Given the description of an element on the screen output the (x, y) to click on. 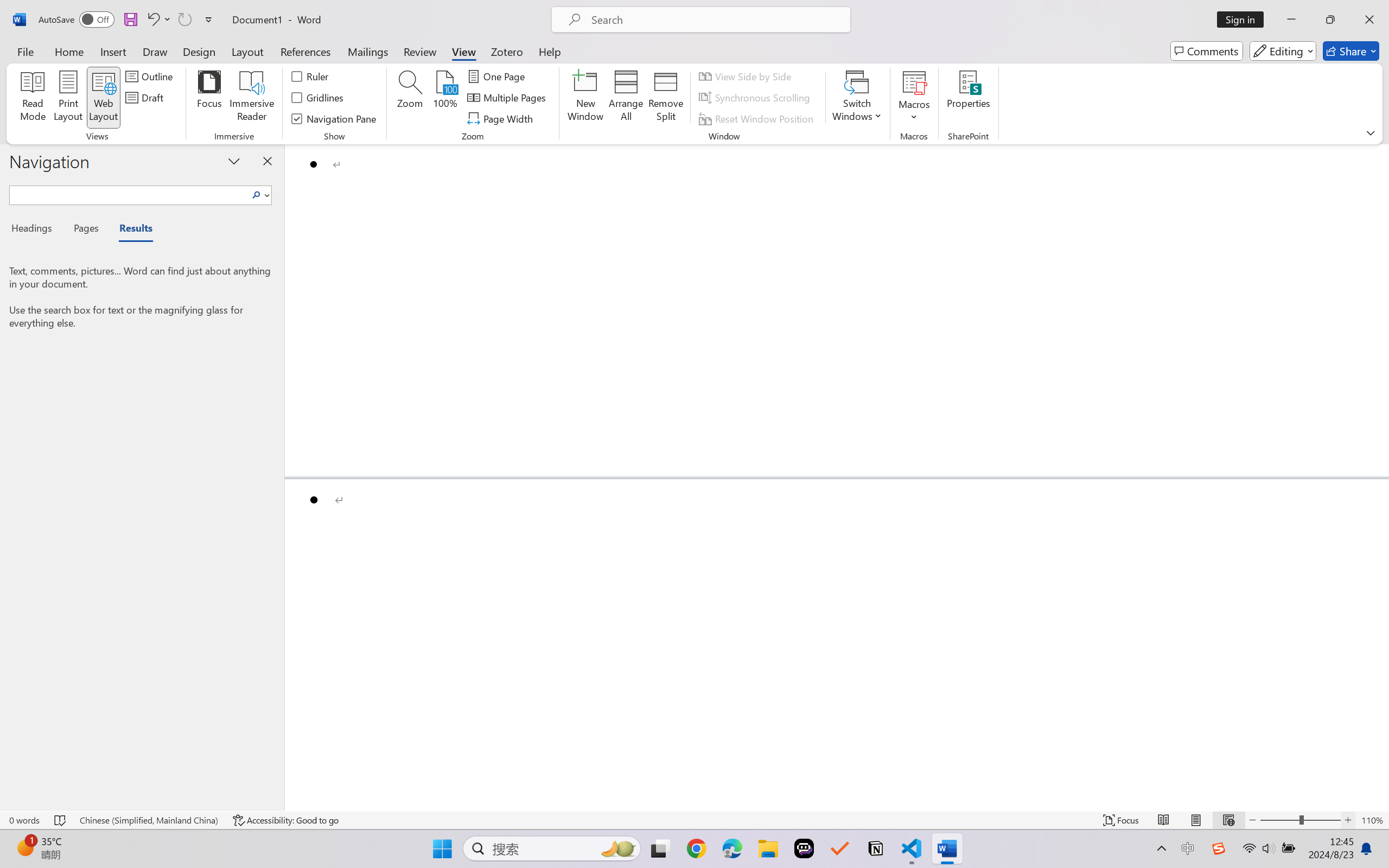
Undo Bullet Default (158, 19)
Headings (35, 229)
One Page (497, 75)
Arrange All (625, 97)
View Side by Side (746, 75)
New Window (585, 97)
